Given the description of an element on the screen output the (x, y) to click on. 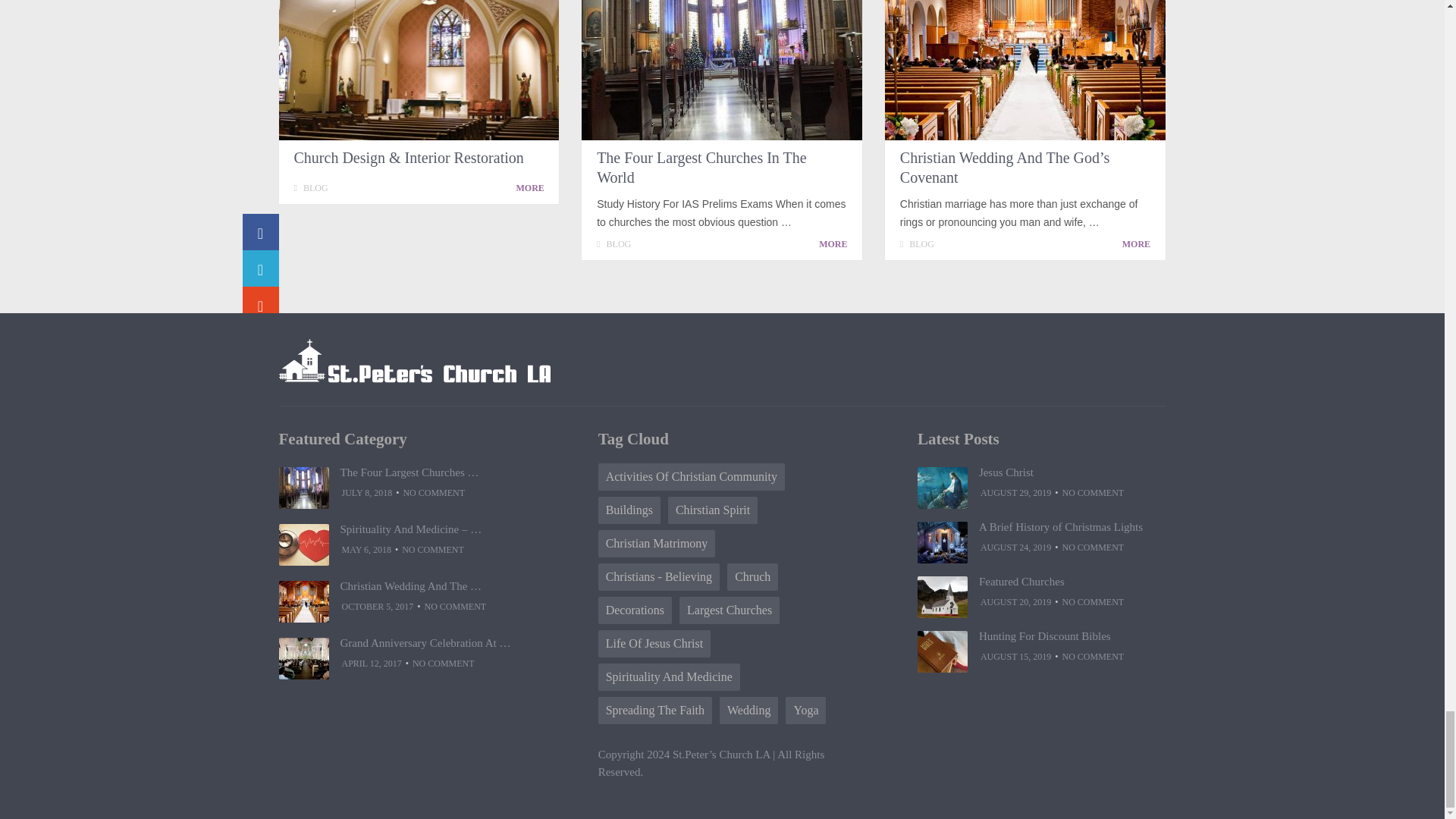
The Four Largest Churches In The World (720, 70)
View all posts in Blog (619, 244)
View all posts in Blog (315, 187)
View all posts in Blog (921, 244)
The Four Largest Churches In The World (701, 167)
The Four Largest Churches In The World (835, 244)
